Given the description of an element on the screen output the (x, y) to click on. 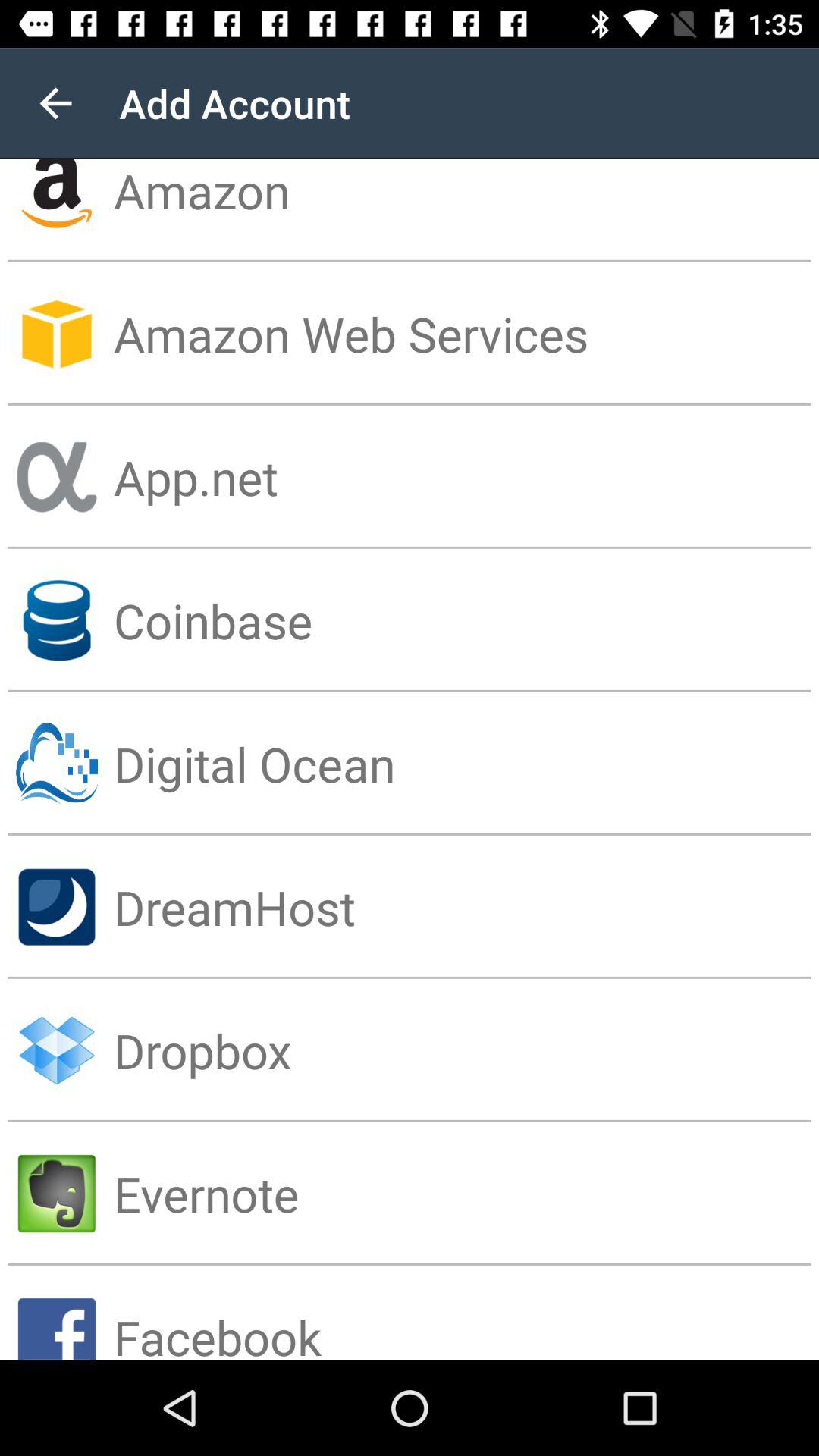
turn on the icon next to amazon item (55, 103)
